Given the description of an element on the screen output the (x, y) to click on. 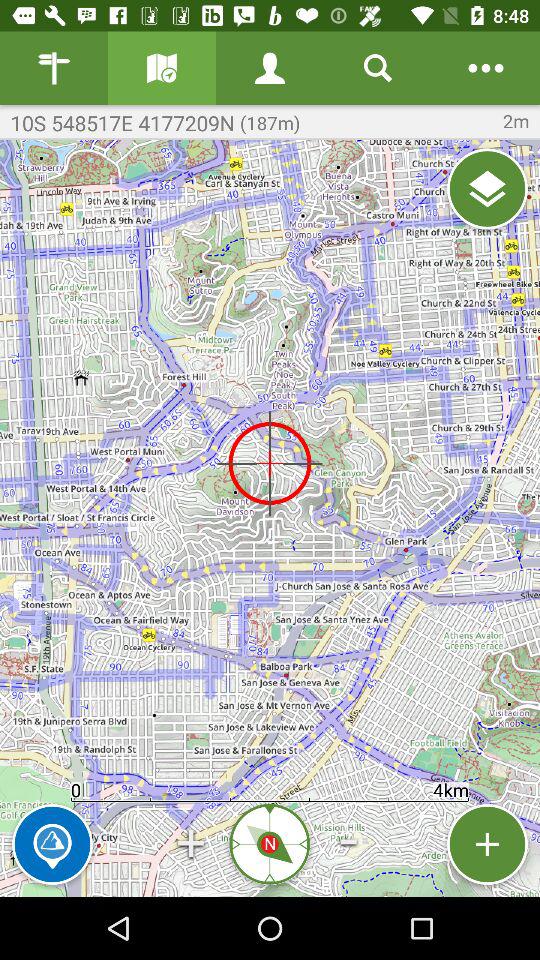
add person (270, 68)
